Given the description of an element on the screen output the (x, y) to click on. 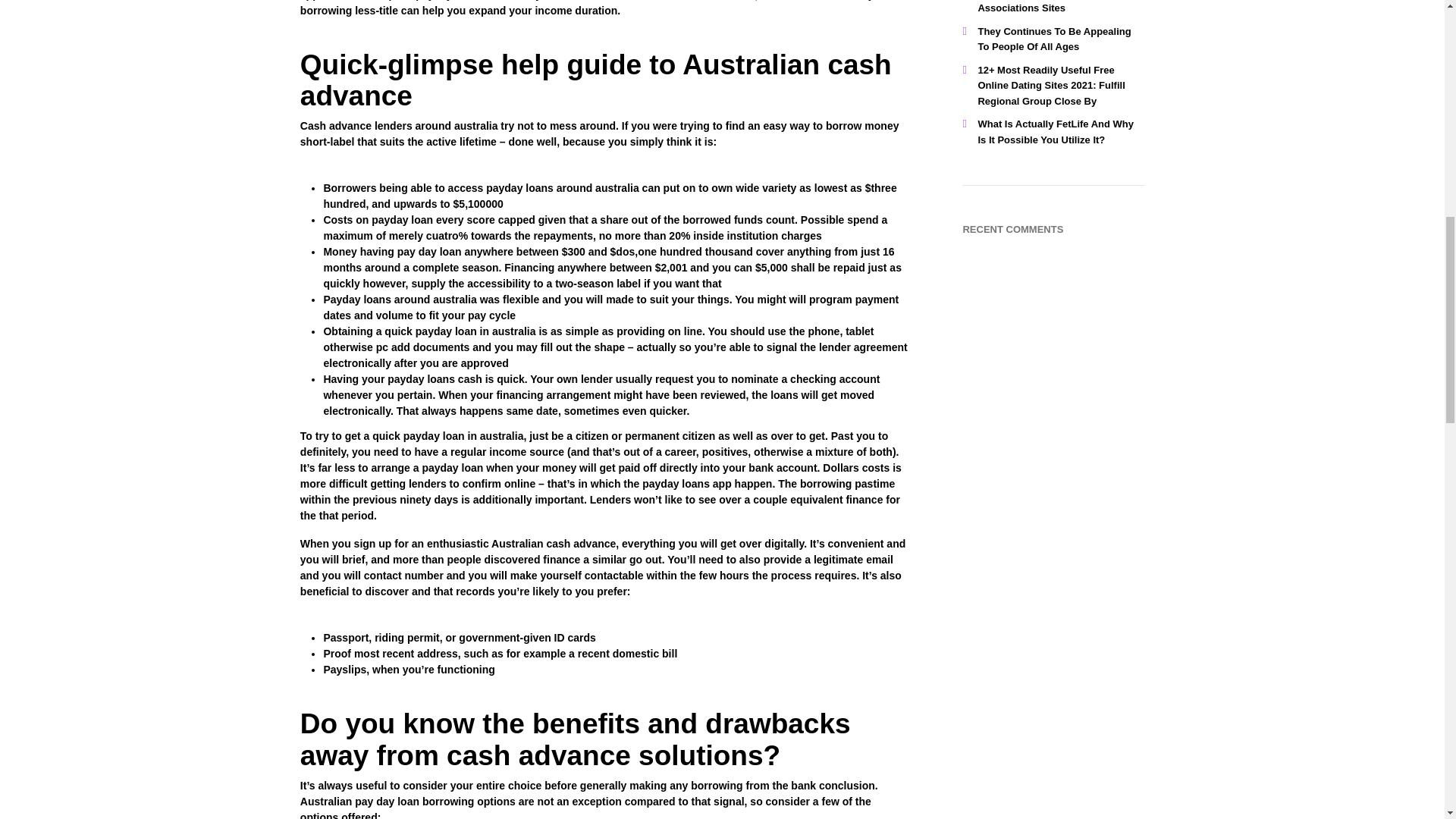
Ideal 4 Zero Charge Card Associations Sites (1035, 7)
They Continues To Be Appealing To People Of All Ages (1053, 39)
